Given the description of an element on the screen output the (x, y) to click on. 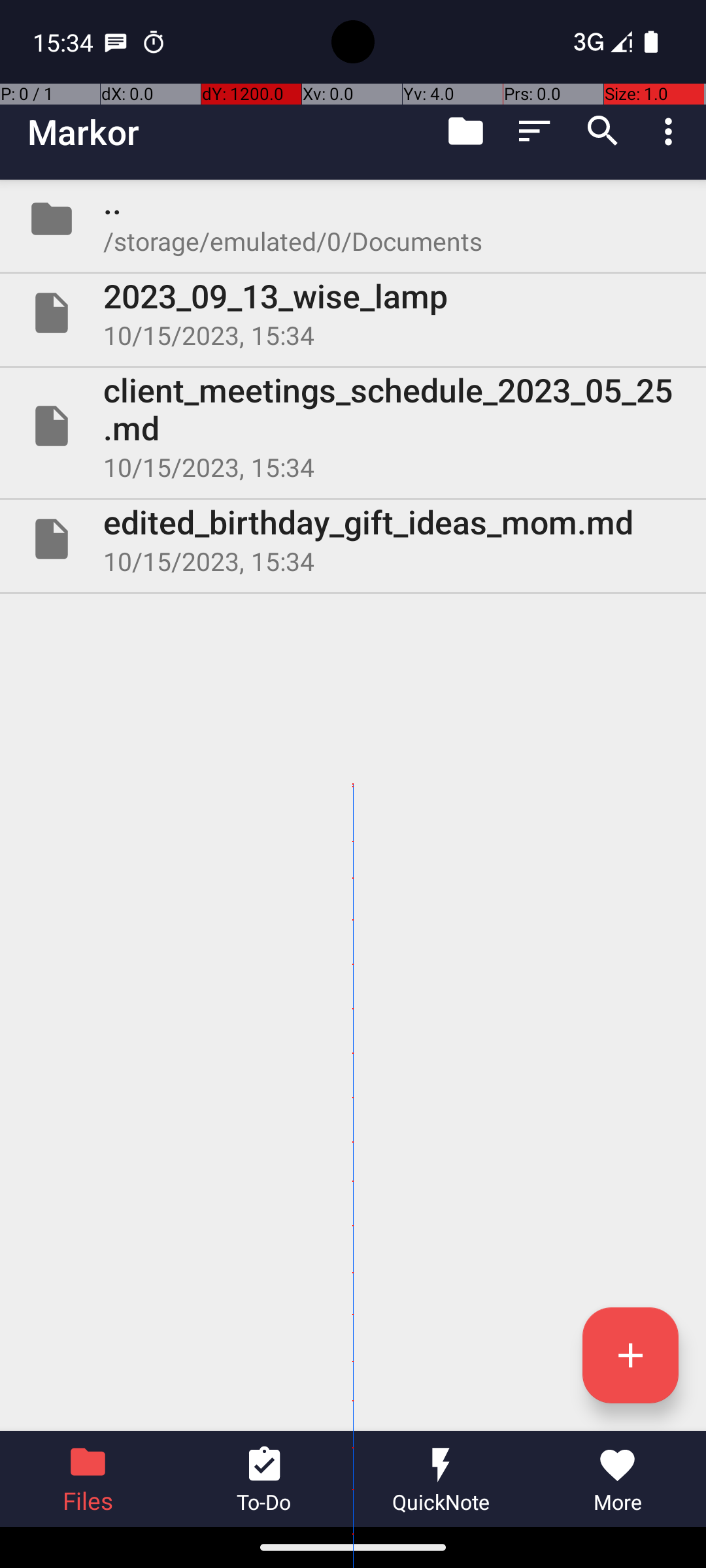
File 2023_09_13_wise_lamp  Element type: android.widget.LinearLayout (353, 312)
File client_meetings_schedule_2023_05_25.md  Element type: android.widget.LinearLayout (353, 425)
File edited_birthday_gift_ideas_mom.md  Element type: android.widget.LinearLayout (353, 538)
